Given the description of an element on the screen output the (x, y) to click on. 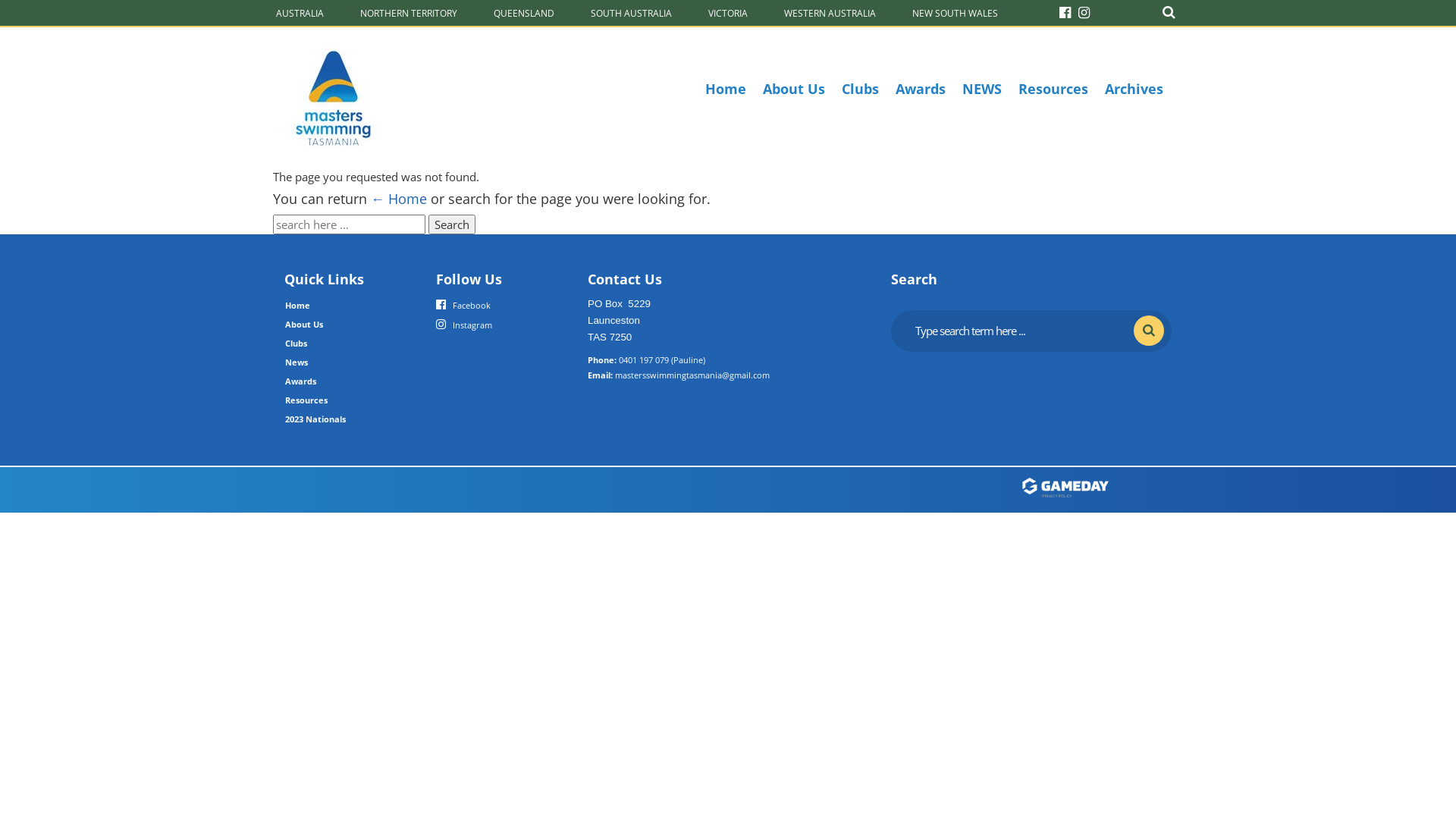
NEWS Element type: text (981, 88)
Powered by SportsTG Element type: hover (1095, 488)
Awards Element type: text (920, 88)
About Us Element type: text (304, 323)
WESTERN AUSTRALIA Element type: text (828, 11)
AUSTRALIA Element type: text (298, 11)
Home Element type: text (725, 88)
Clubs Element type: text (296, 342)
About Us Element type: text (793, 88)
Awards Element type: text (300, 380)
Resources Element type: text (306, 399)
Home Element type: text (297, 304)
NEW SOUTH WALES Element type: text (953, 11)
s Element type: text (1148, 330)
Clubs Element type: text (859, 88)
2023 Nationals Element type: text (315, 418)
Facebook Element type: text (463, 303)
News Element type: text (296, 361)
SportsTG Privacy Policy Element type: hover (1095, 499)
Search Element type: hover (1168, 12)
mastersswimmingtasmania@gmail.com Element type: text (692, 374)
Search Element type: text (451, 224)
SOUTH AUSTRALIA Element type: text (629, 11)
Resources Element type: text (1053, 88)
Instagram Element type: text (464, 323)
QUEENSLAND Element type: text (522, 11)
VICTORIA Element type: text (726, 11)
Archives Element type: text (1133, 88)
NORTHERN TERRITORY Element type: text (407, 11)
